Given the description of an element on the screen output the (x, y) to click on. 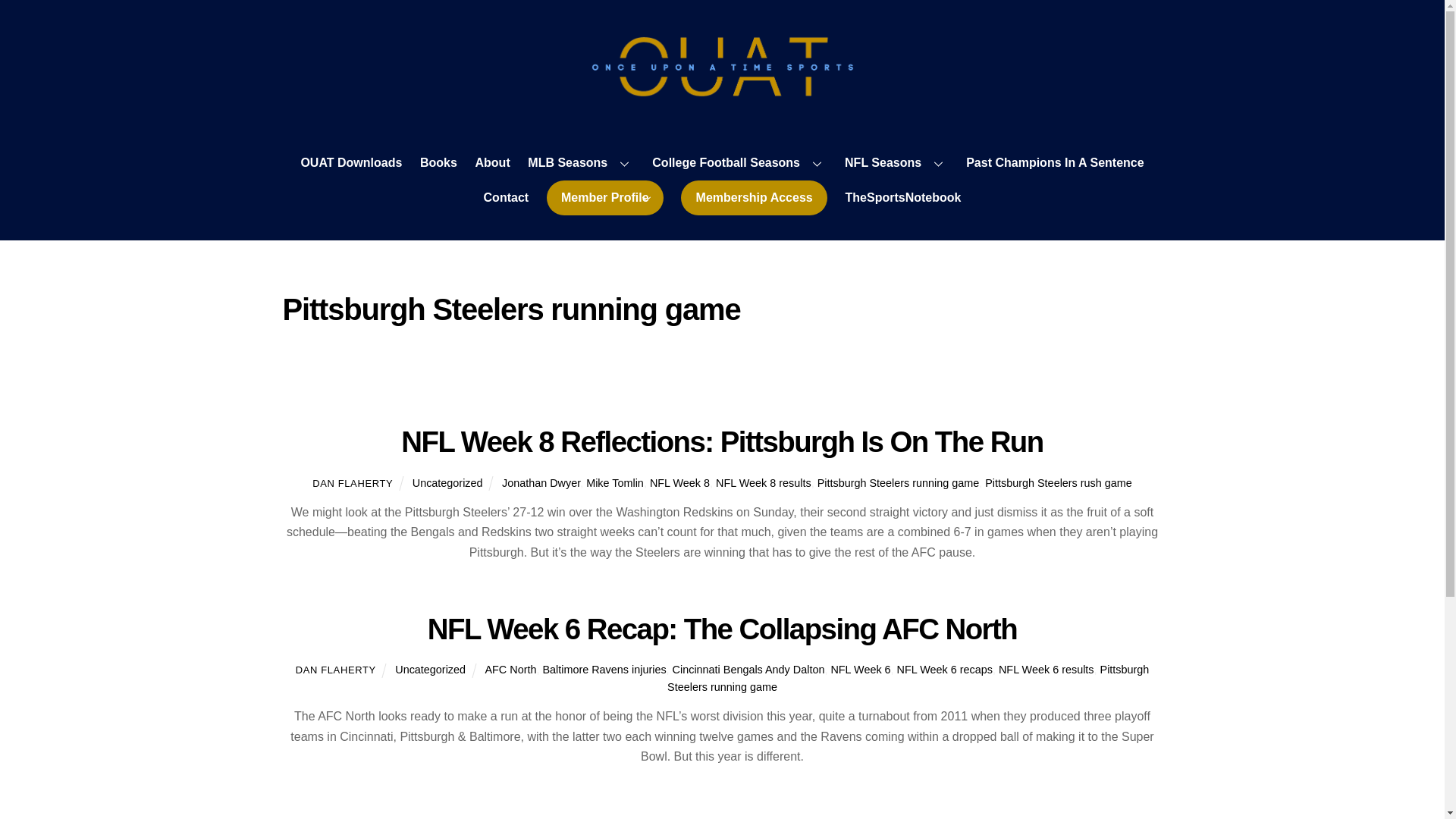
Books (438, 163)
About (491, 163)
OUAT Downloads (351, 163)
OUAT Sports (722, 91)
MLB Seasons (581, 163)
